Given the description of an element on the screen output the (x, y) to click on. 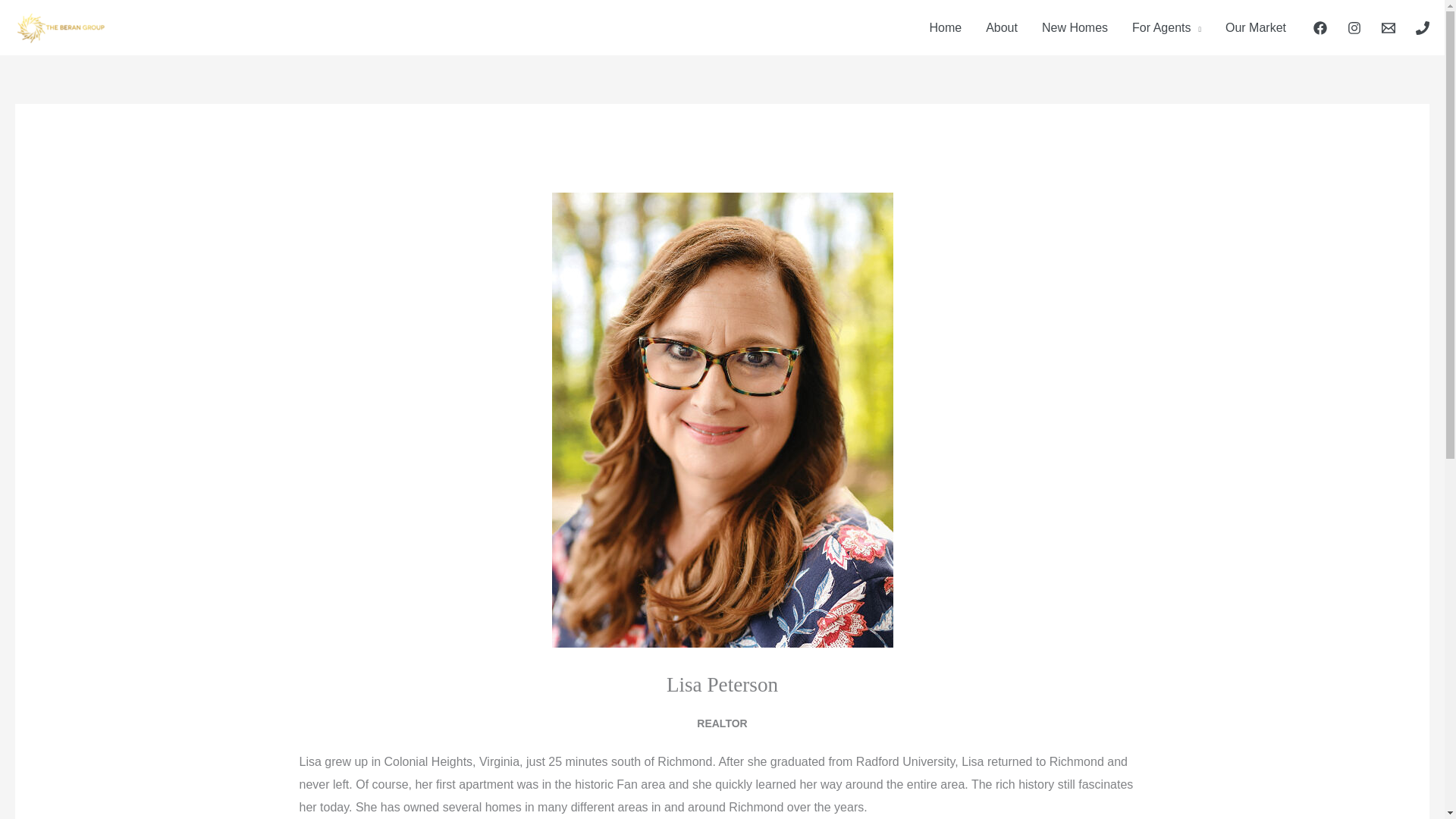
Home (945, 27)
For Agents (1165, 27)
About (1001, 27)
New Homes (1074, 27)
Our Market (1255, 27)
